Given the description of an element on the screen output the (x, y) to click on. 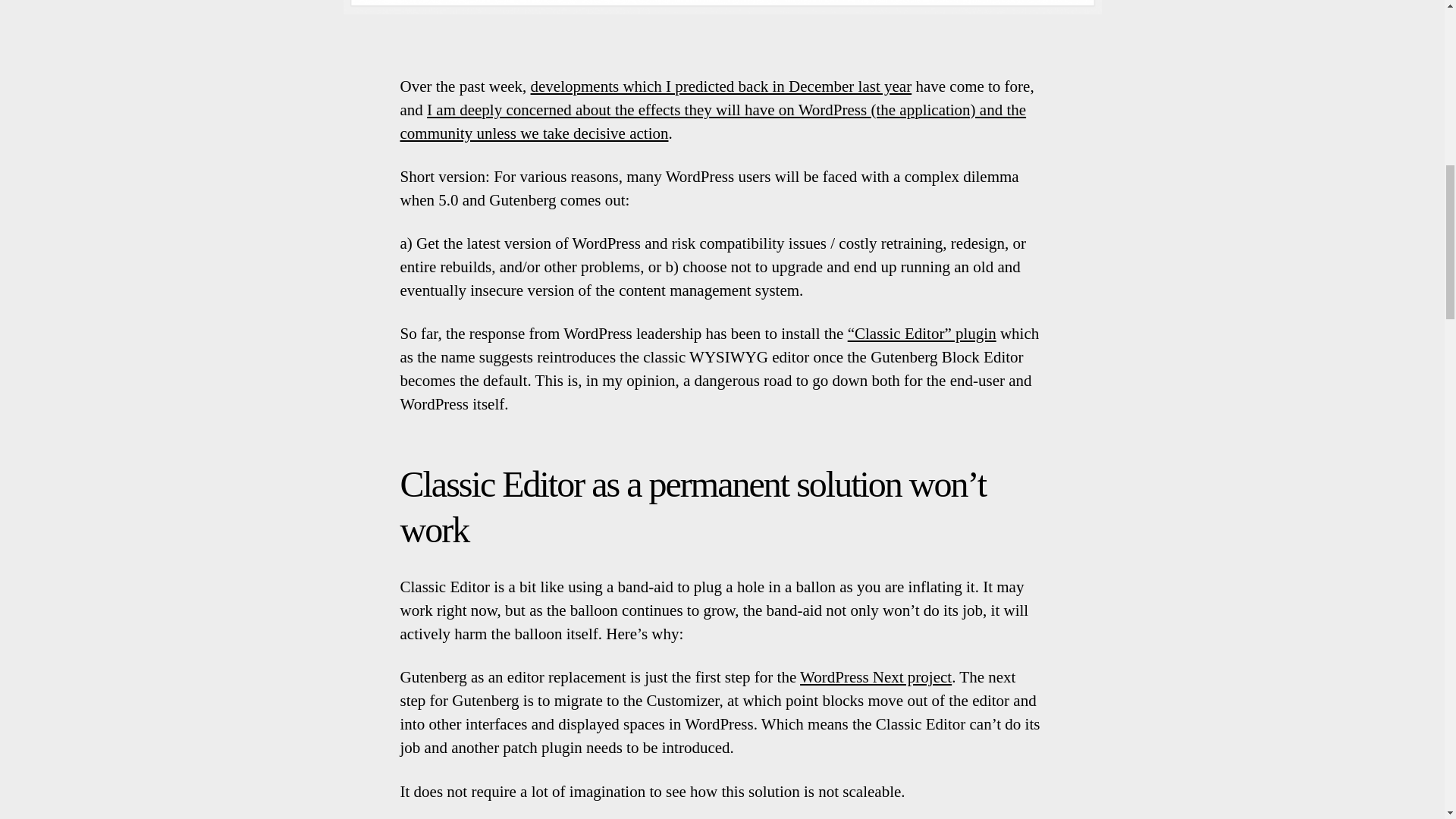
WordPress Next project (875, 677)
developments which I predicted back in December last year (721, 85)
